Given the description of an element on the screen output the (x, y) to click on. 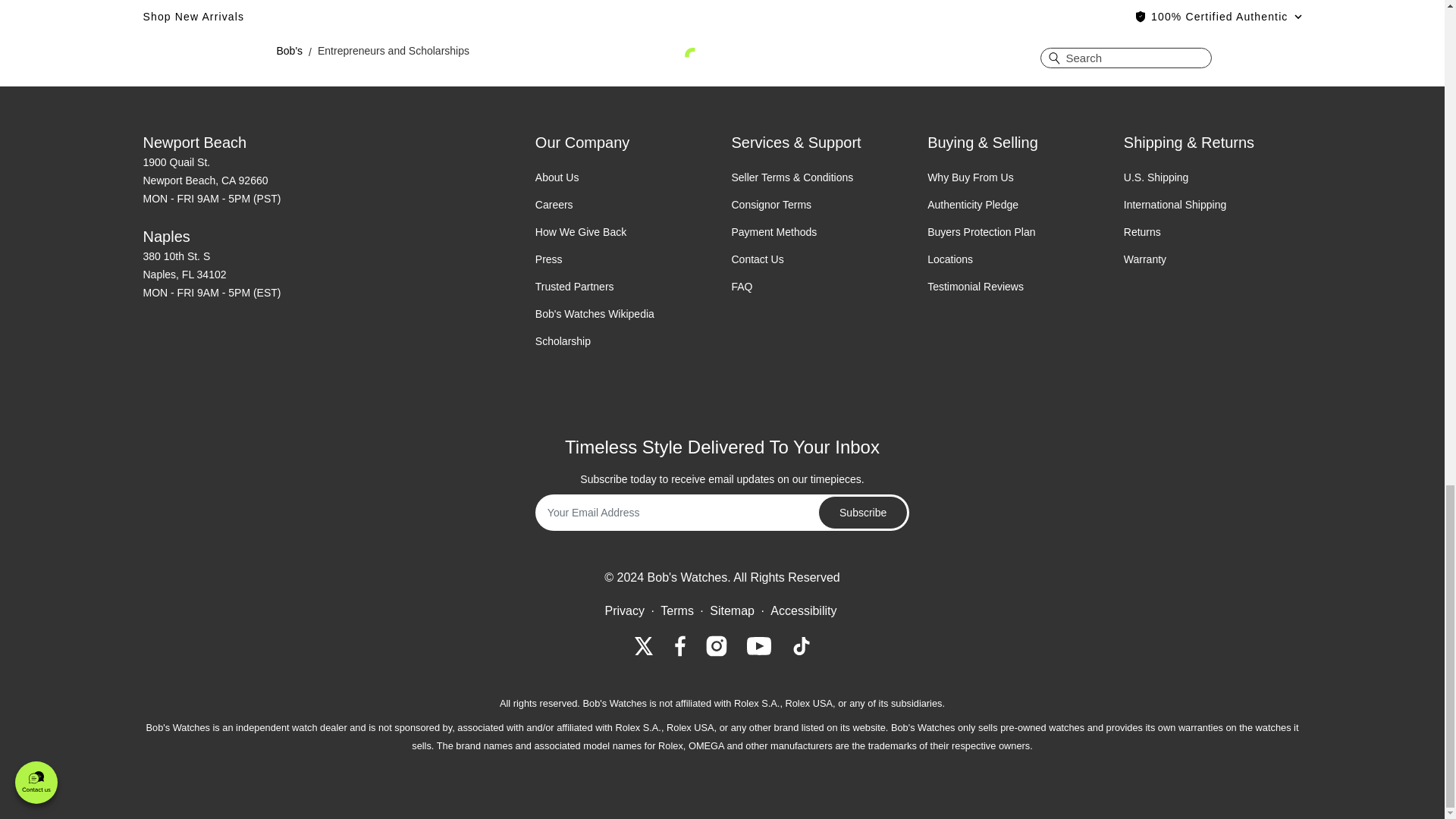
scholarship (563, 340)
